Given the description of an element on the screen output the (x, y) to click on. 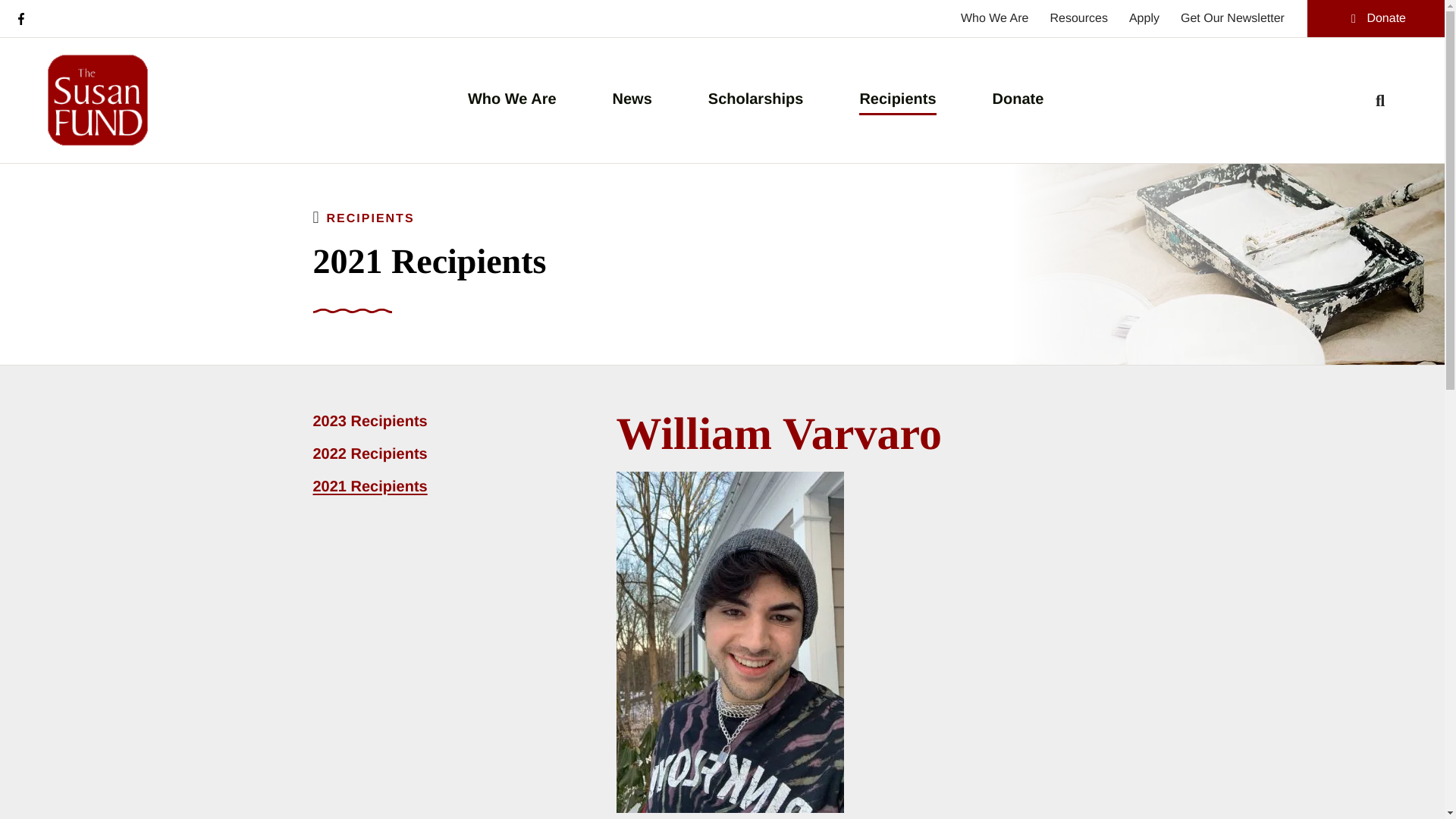
2023 Recipients (407, 427)
logo (97, 100)
Scholarships (755, 99)
Get Our Newsletter (1232, 18)
2022 Recipients (407, 459)
Resources (1077, 18)
Who We Are (994, 18)
RECIPIENTS (370, 218)
2021 Recipients (407, 491)
Who We Are (511, 99)
News (632, 99)
Apply (1143, 18)
Recipients (897, 99)
Donate (1017, 99)
